Given the description of an element on the screen output the (x, y) to click on. 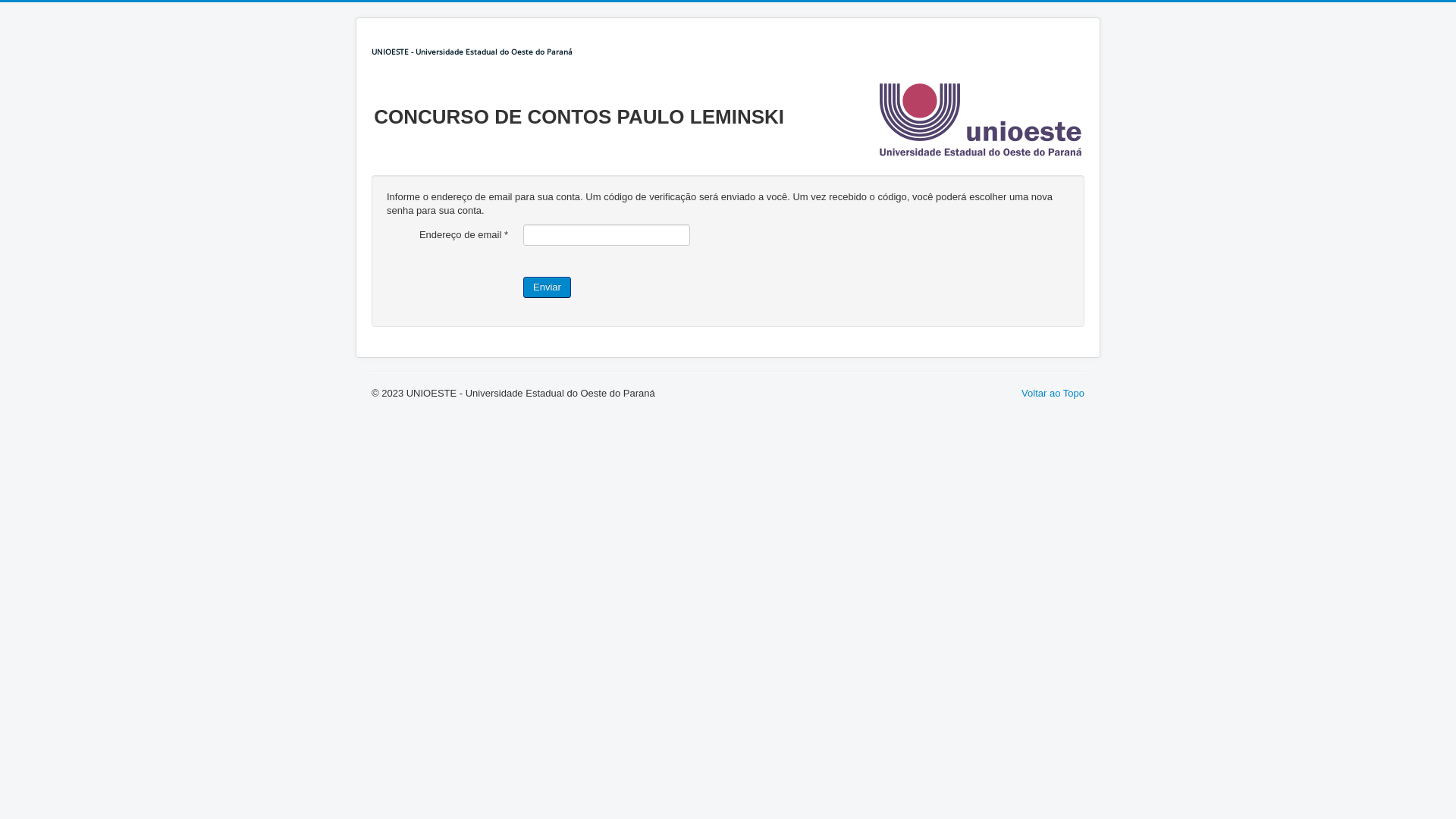
Voltar ao Topo Element type: text (1052, 392)
Enviar Element type: text (547, 287)
